Given the description of an element on the screen output the (x, y) to click on. 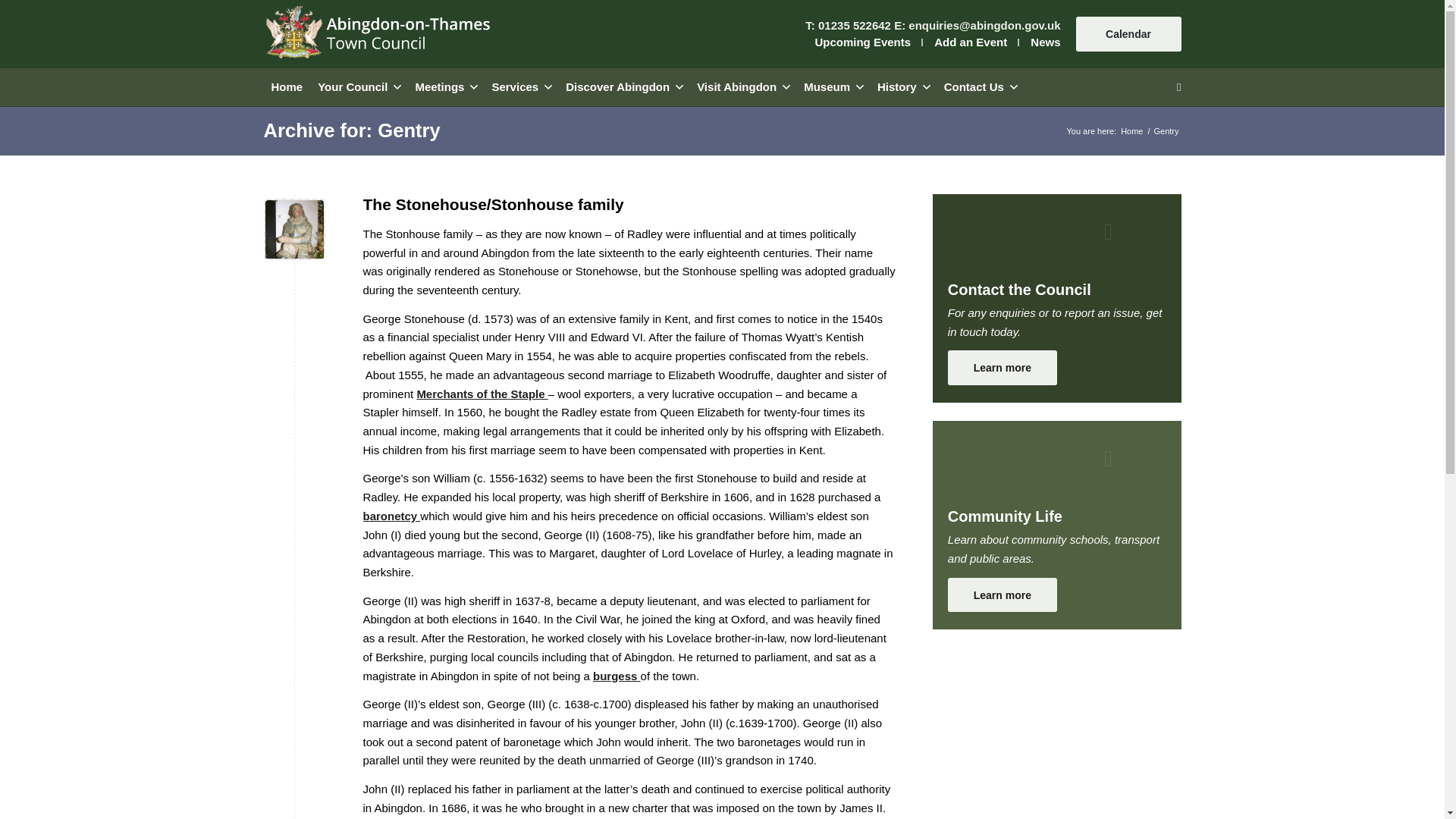
Services (520, 86)
Calendar (1127, 33)
Upcoming Events (862, 42)
Abingdon on Thames Town Council (1131, 131)
Home (287, 86)
News (1044, 42)
Your Council (358, 86)
Add an Event (970, 42)
Meetings (445, 86)
Permanent Link: Archive for: Gentry (352, 129)
